Given the description of an element on the screen output the (x, y) to click on. 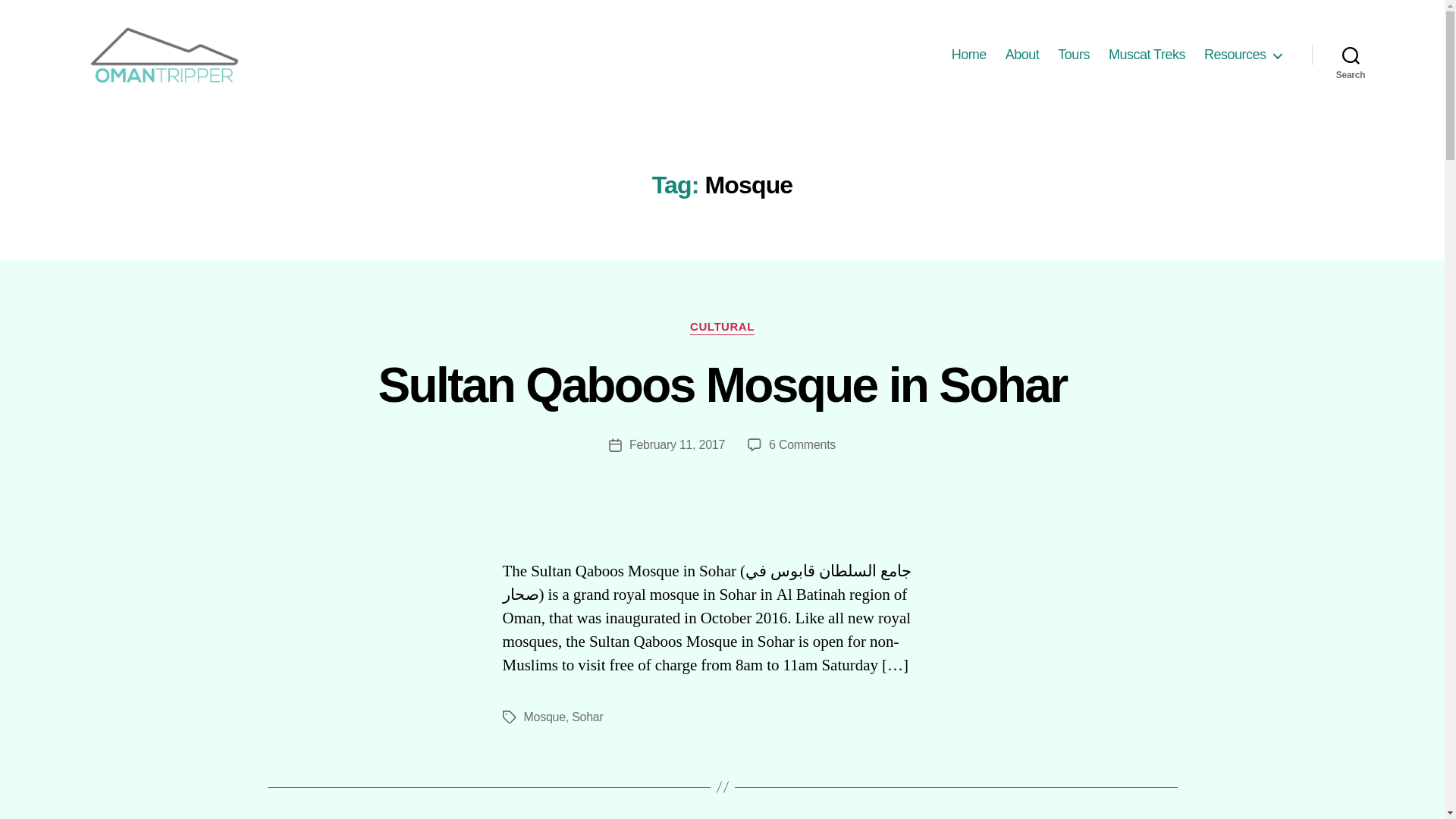
Muscat Treks (1146, 54)
About (1022, 54)
Mosque (543, 716)
Tours (1073, 54)
Home (969, 54)
February 11, 2017 (801, 444)
CULTURAL (676, 444)
Sultan Qaboos Mosque in Sohar (722, 327)
Resources (722, 384)
Search (1242, 54)
Sohar (1350, 55)
